Given the description of an element on the screen output the (x, y) to click on. 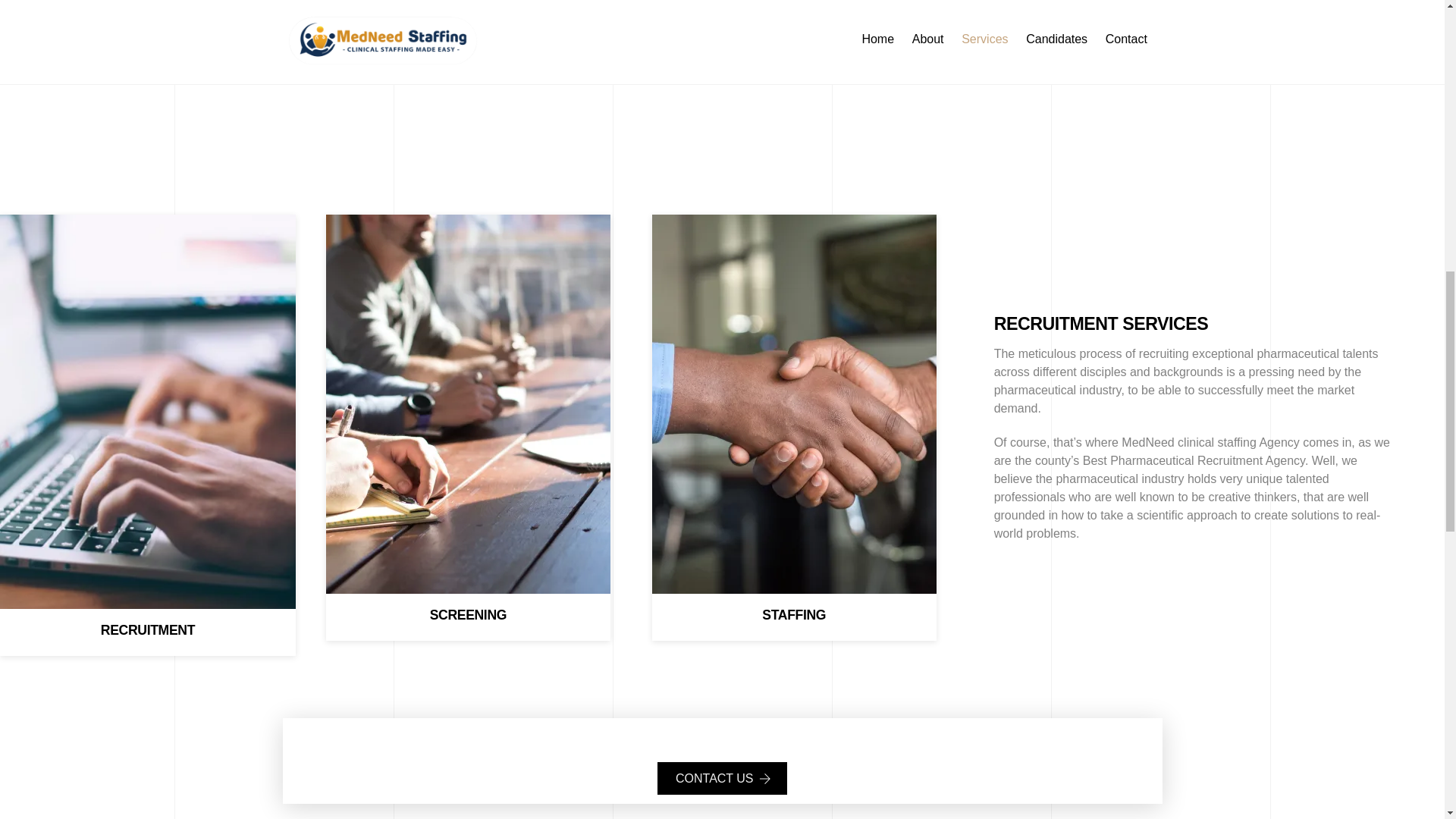
STAFFING (794, 403)
RECRUITMENT  (147, 411)
national-cancer-institute-NFvdKIhxYlU-unsplash (435, 8)
CONTACT US (722, 778)
SCREENING (468, 403)
